Given the description of an element on the screen output the (x, y) to click on. 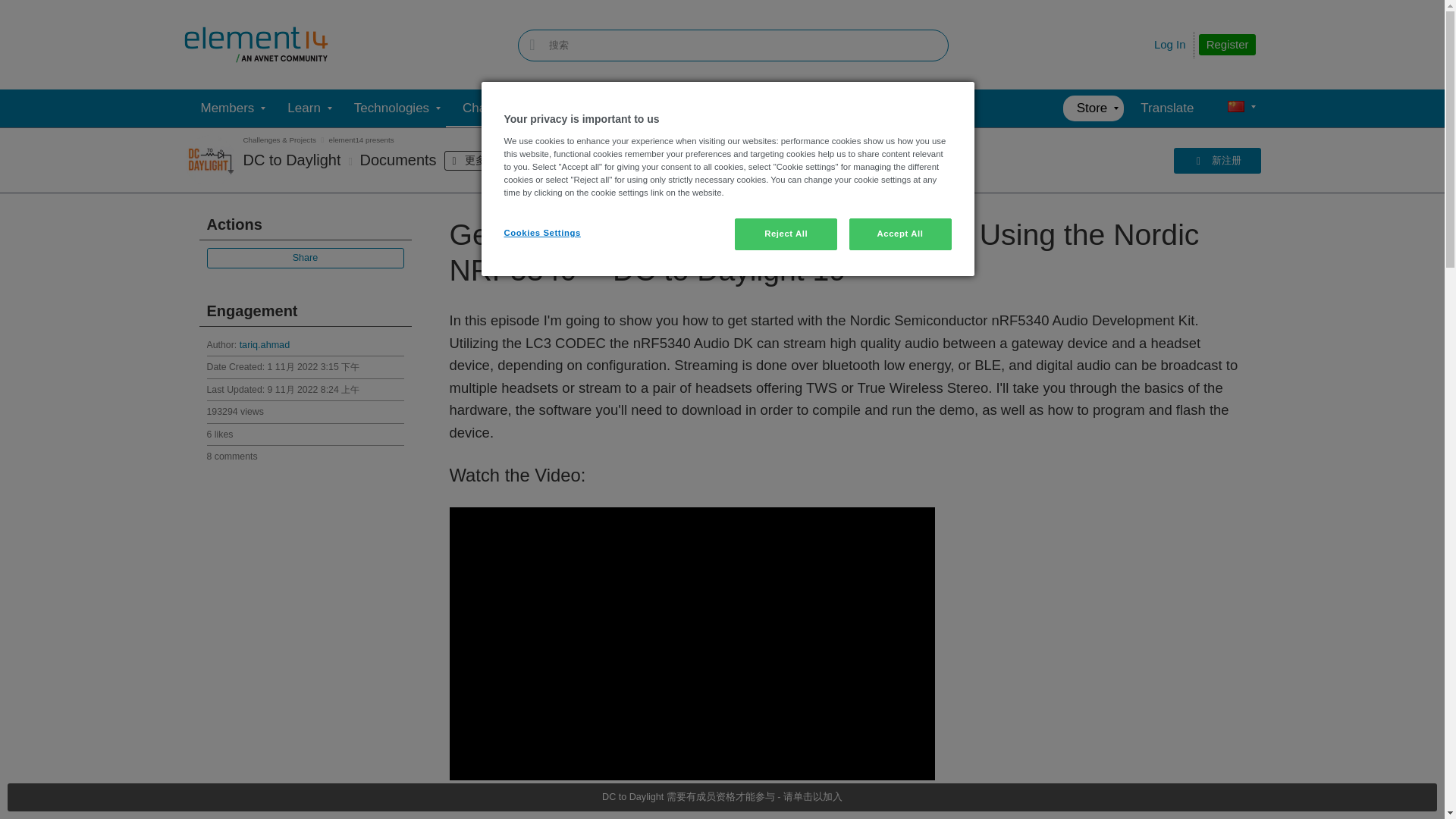
Register (1226, 44)
Learn (303, 108)
Register (1226, 44)
Members (226, 108)
Log In (1170, 44)
Technologies (391, 108)
Log In (1170, 44)
